Given the description of an element on the screen output the (x, y) to click on. 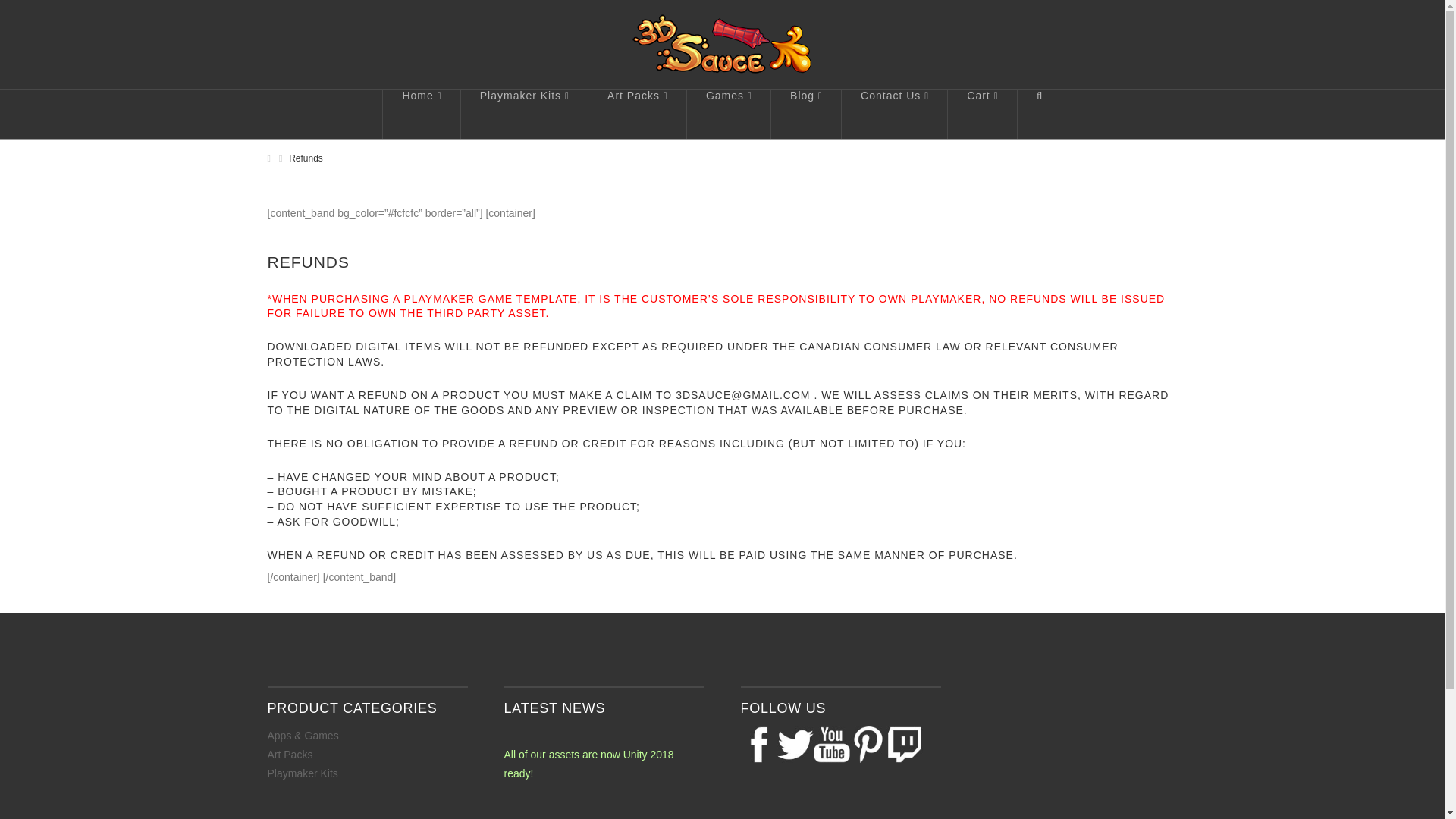
Blog (806, 114)
Art Packs (637, 114)
Cart (981, 114)
Home (420, 114)
Playmaker Kits (524, 114)
High Quality Assets for Your Unity3D Projects (721, 44)
Games (729, 114)
Contact Us (894, 114)
